Given the description of an element on the screen output the (x, y) to click on. 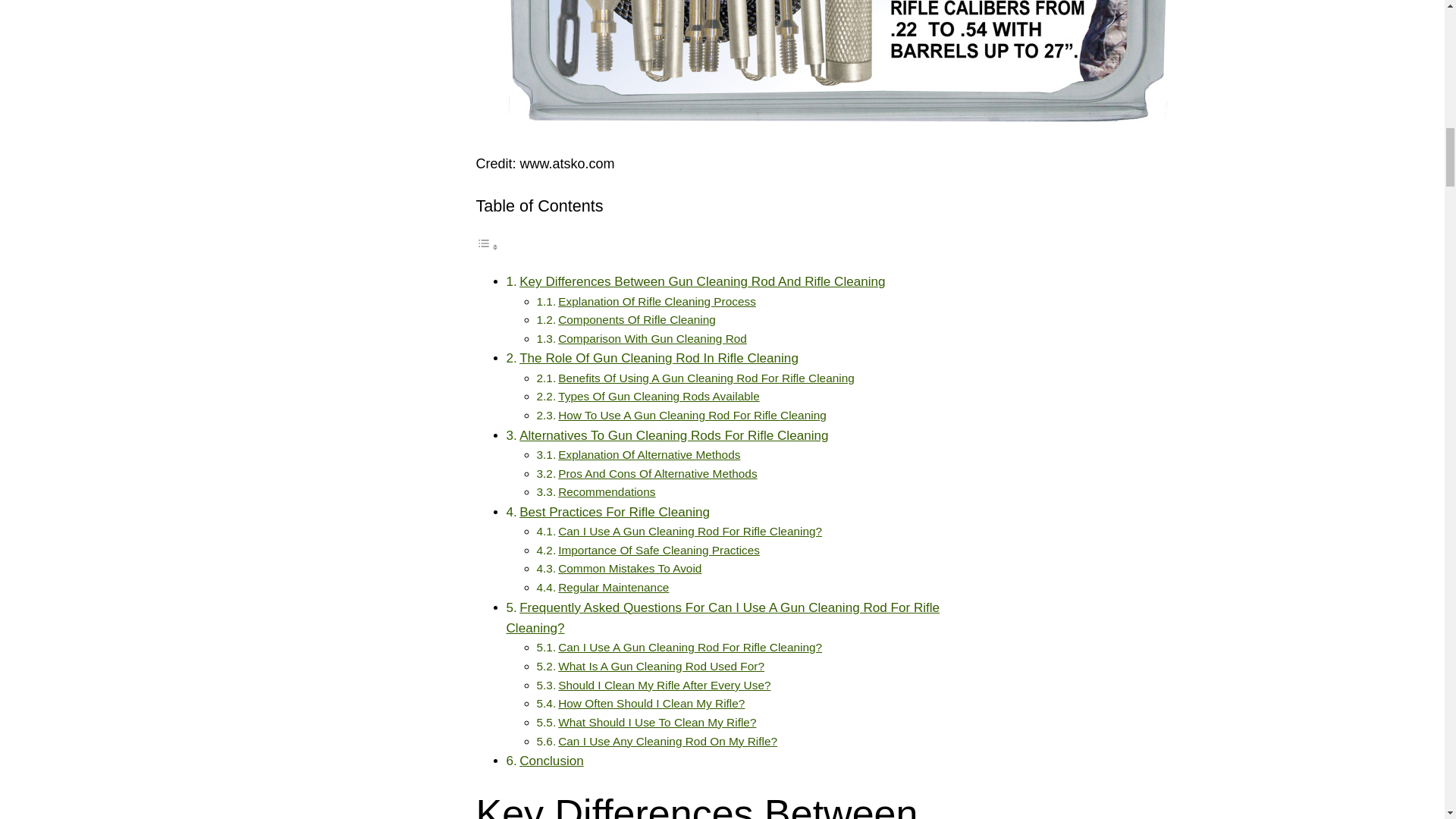
Pros And Cons Of Alternative Methods (657, 472)
The Role Of Gun Cleaning Rod In Rifle Cleaning (658, 358)
Components Of Rifle Cleaning (636, 318)
Key Differences Between Gun Cleaning Rod And Rifle Cleaning (702, 281)
Components Of Rifle Cleaning (636, 318)
Can I Use A Gun Cleaning Rod For Rifle Cleaning? (689, 646)
Benefits Of Using A Gun Cleaning Rod For Rifle Cleaning (705, 377)
Can I Use A Gun Cleaning Rod For Rifle Cleaning? (689, 530)
The Role Of Gun Cleaning Rod In Rifle Cleaning (658, 358)
Recommendations (606, 491)
How Often Should I Clean My Rifle? (650, 703)
Key Differences Between Gun Cleaning Rod And Rifle Cleaning (702, 281)
Benefits Of Using A Gun Cleaning Rod For Rifle Cleaning (705, 377)
Types Of Gun Cleaning Rods Available (658, 395)
